Given the description of an element on the screen output the (x, y) to click on. 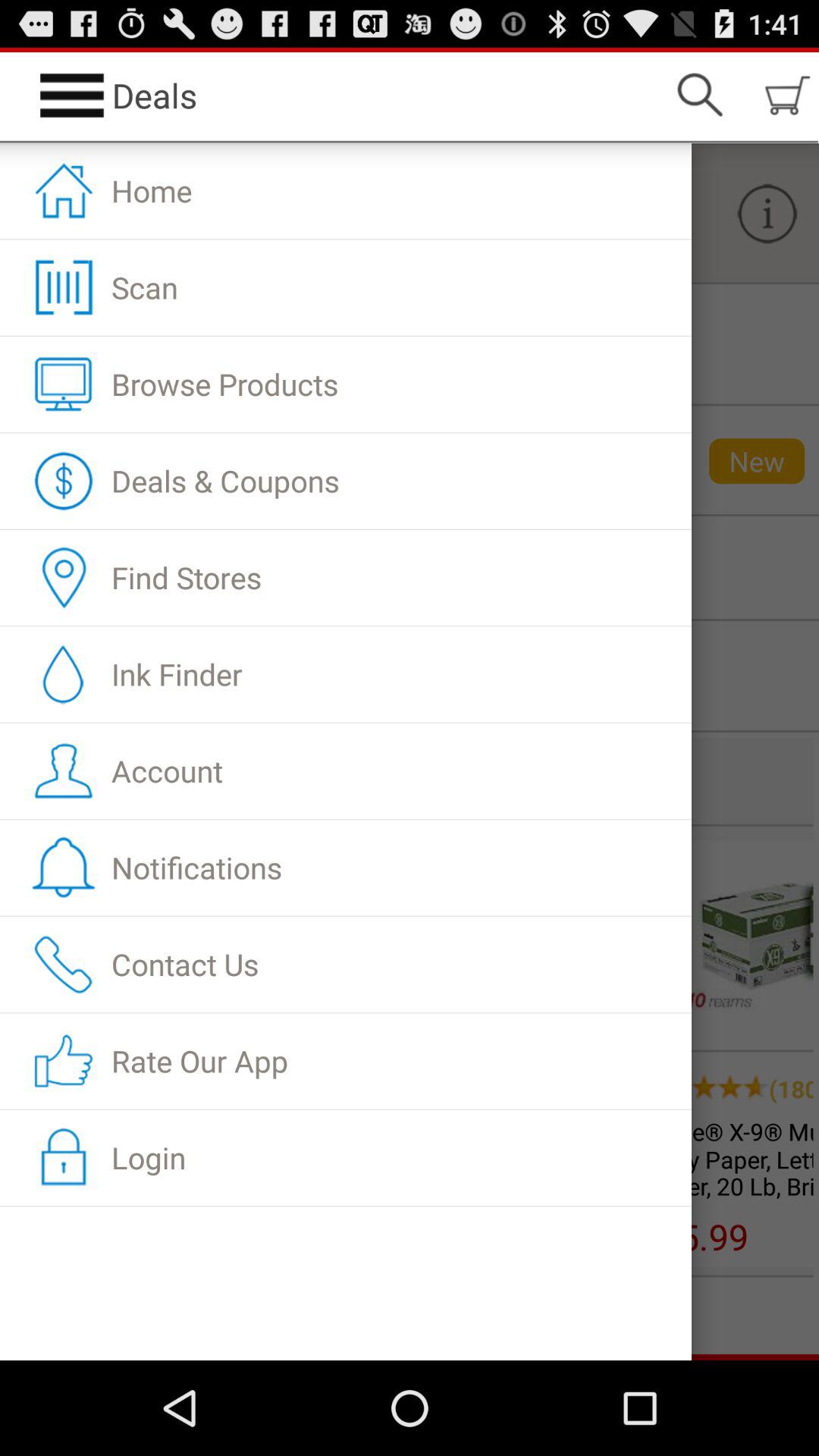
click on the droplet symbol beside ink finder (49, 676)
select the icon which is left to the text deals (72, 95)
